Given the description of an element on the screen output the (x, y) to click on. 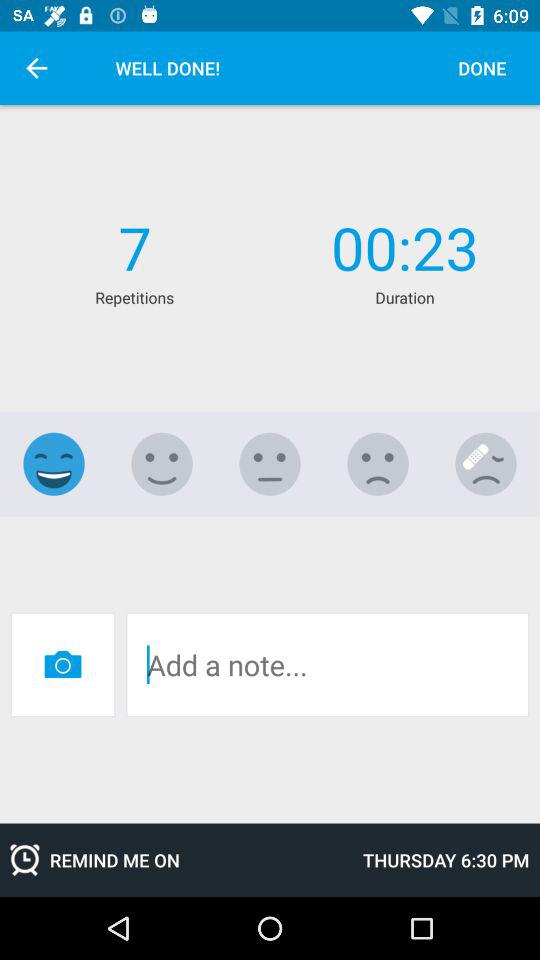
happy option (162, 463)
